Given the description of an element on the screen output the (x, y) to click on. 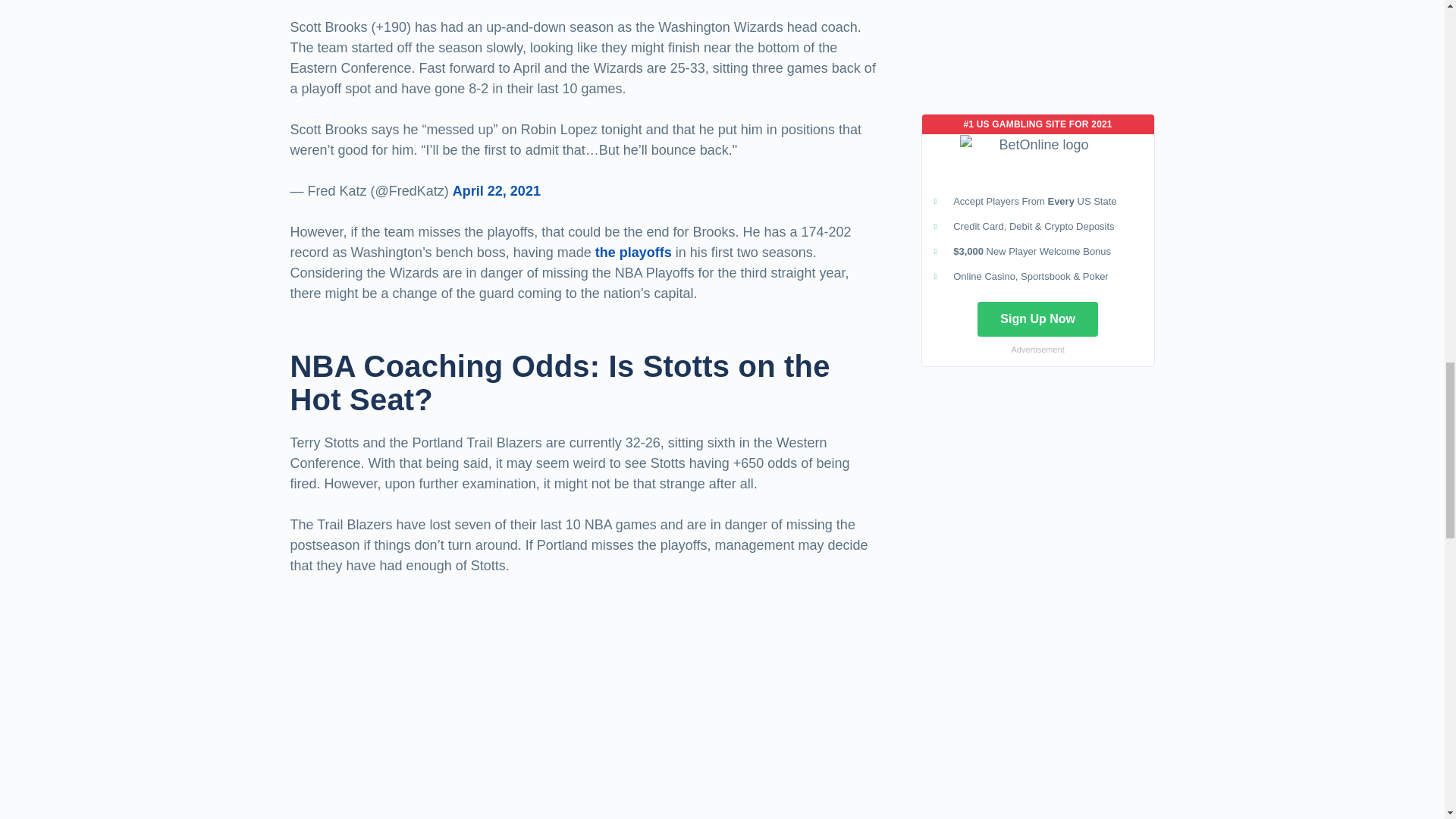
the playoffs (633, 252)
April 22, 2021 (496, 191)
